Given the description of an element on the screen output the (x, y) to click on. 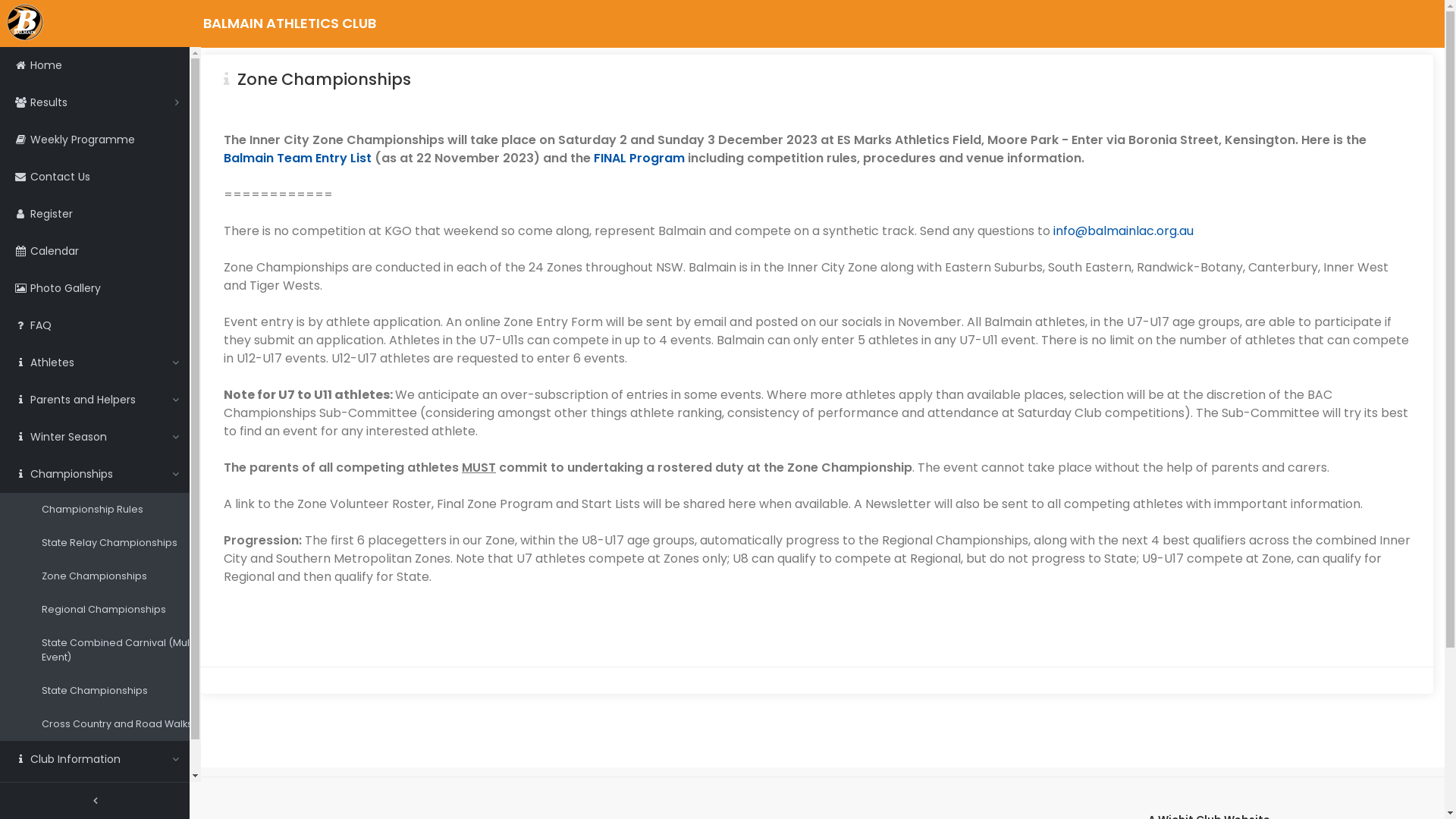
Results Element type: text (94, 102)
Balmain Team Entry List Element type: text (297, 157)
FINAL Program Element type: text (638, 157)
info@balmainlac.org.au Element type: text (1123, 230)
Championships Element type: text (94, 473)
State Championships Element type: text (109, 690)
Home Element type: text (94, 65)
Athletes Element type: text (94, 362)
Club Information Element type: text (94, 759)
Photo Gallery Element type: text (94, 288)
Register Element type: text (94, 213)
State Combined Carnival (Multi Event) Element type: text (109, 650)
Regional Championships Element type: text (109, 609)
Parents and Helpers Element type: text (94, 399)
Contact Us Element type: text (94, 176)
Calendar Element type: text (94, 250)
State Relay Championships Element type: text (109, 542)
Zone Championships Element type: text (109, 576)
Winter Season Element type: text (94, 436)
Cross Country and Road Walks Element type: text (109, 723)
Championship Rules Element type: text (109, 509)
Administration Element type: text (94, 796)
FAQ Element type: text (94, 325)
Weekly Programme Element type: text (94, 139)
